Given the description of an element on the screen output the (x, y) to click on. 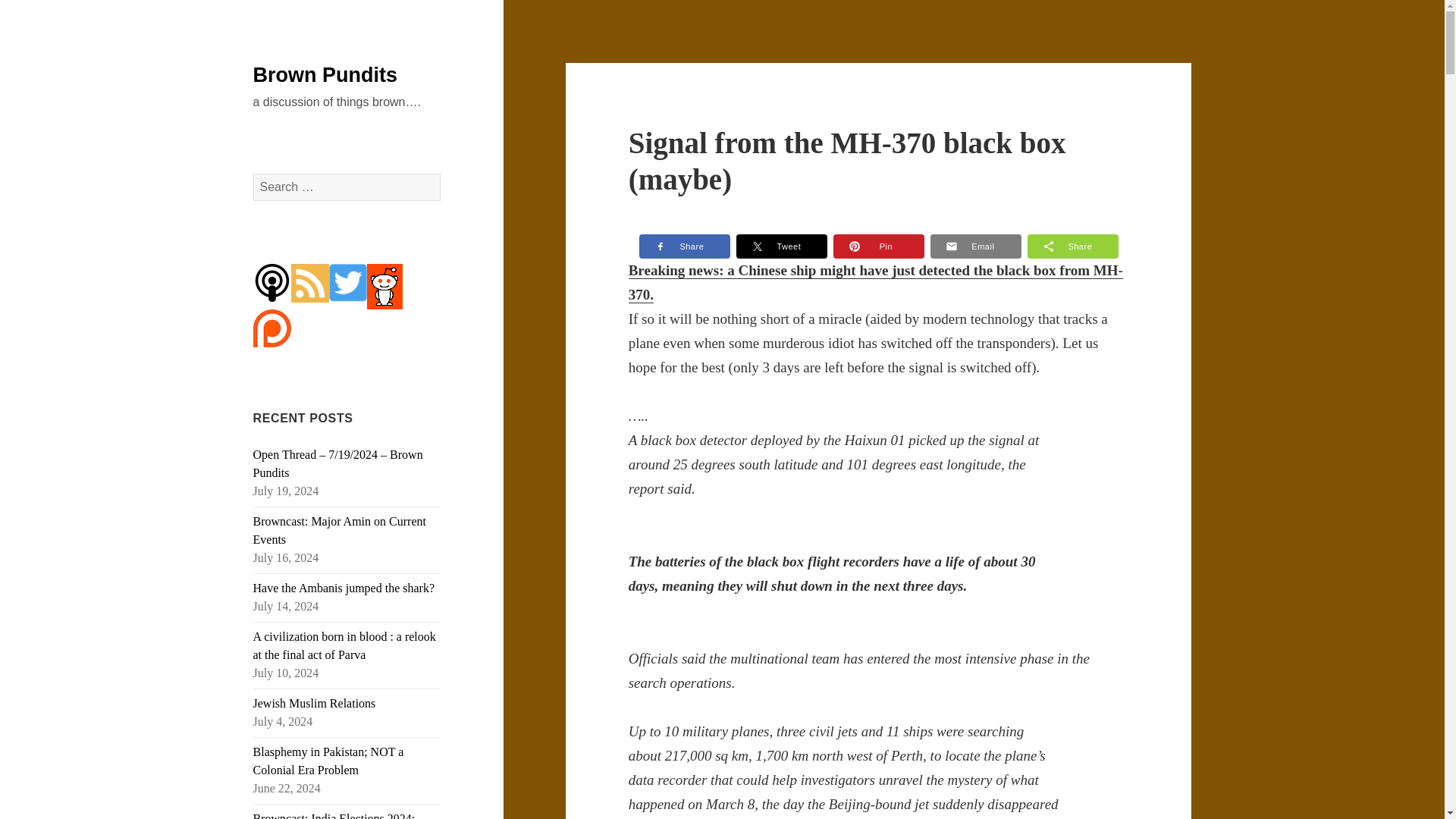
Browncast: Major Amin on Current Events (339, 530)
Blasphemy in Pakistan; NOT a Colonial Era Problem (328, 760)
Jewish Muslim Relations (314, 703)
Have the Ambanis jumped the shark? (344, 587)
Brown Pundits (325, 74)
Browncast: India Elections 2024; Ashvamedha Interrupted (333, 815)
